Given the description of an element on the screen output the (x, y) to click on. 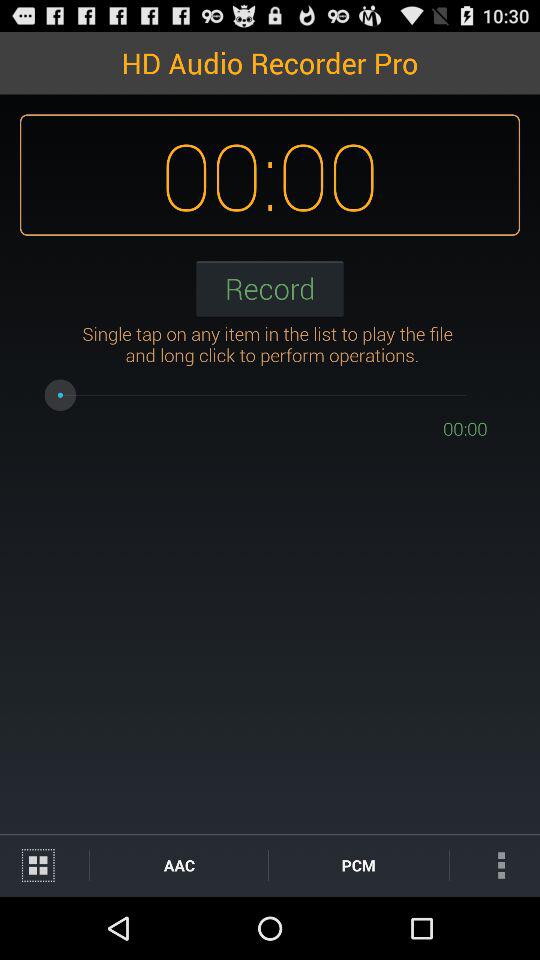
to select files option (44, 865)
